Given the description of an element on the screen output the (x, y) to click on. 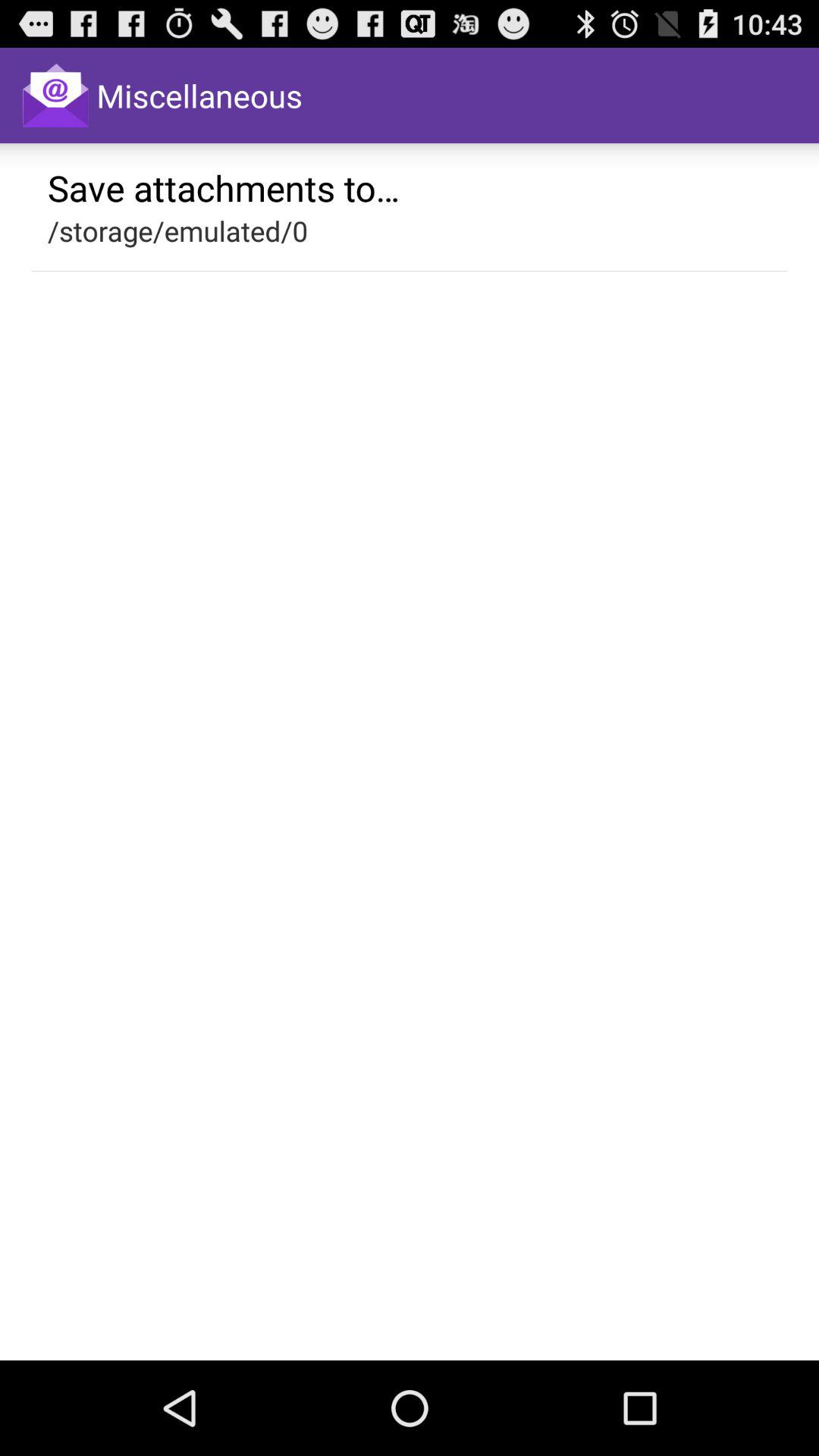
swipe to the /storage/emulated/0 item (177, 230)
